Given the description of an element on the screen output the (x, y) to click on. 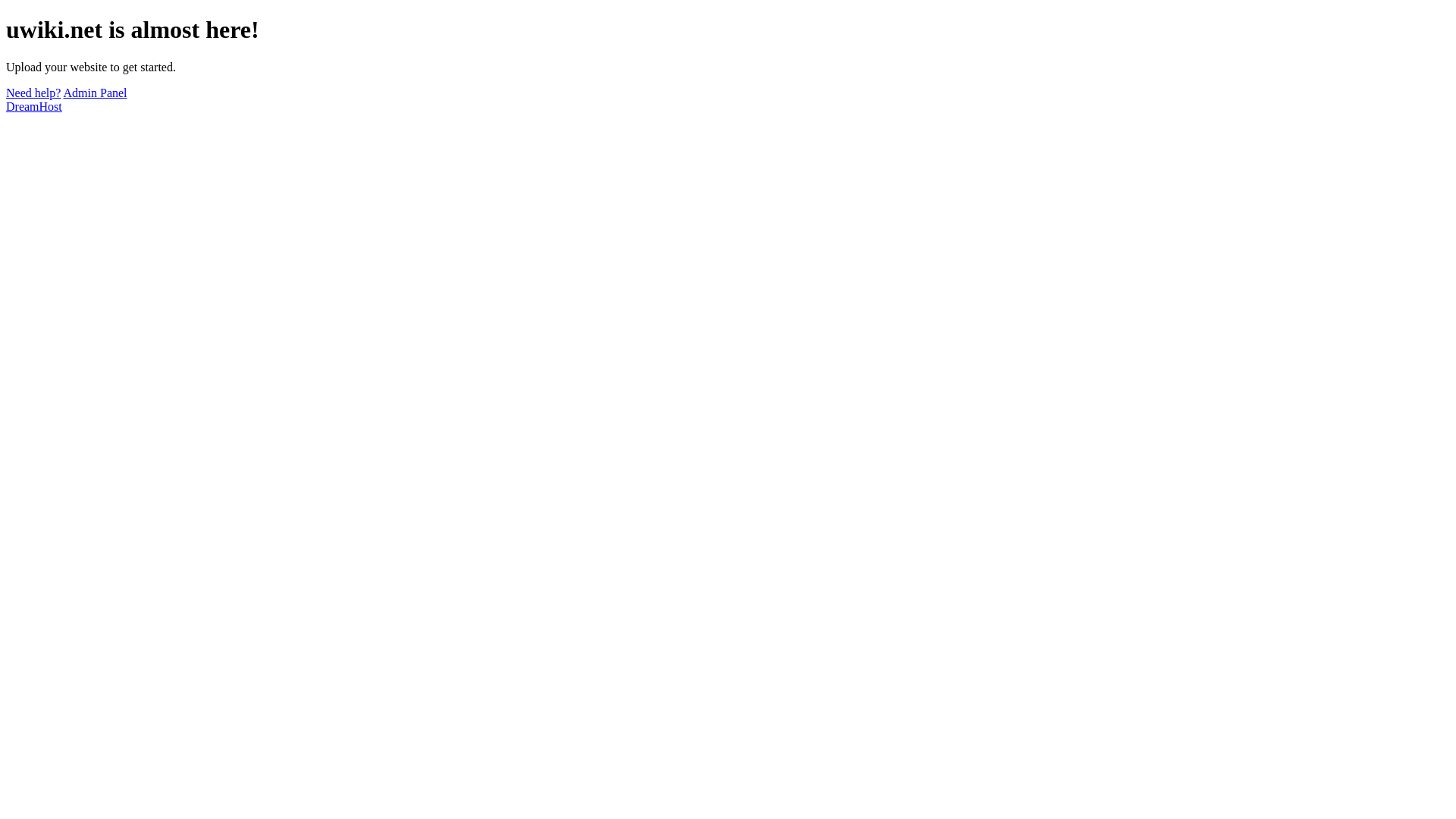
Admin Panel Element type: text (95, 92)
DreamHost Element type: text (34, 106)
Need help? Element type: text (33, 92)
